Given the description of an element on the screen output the (x, y) to click on. 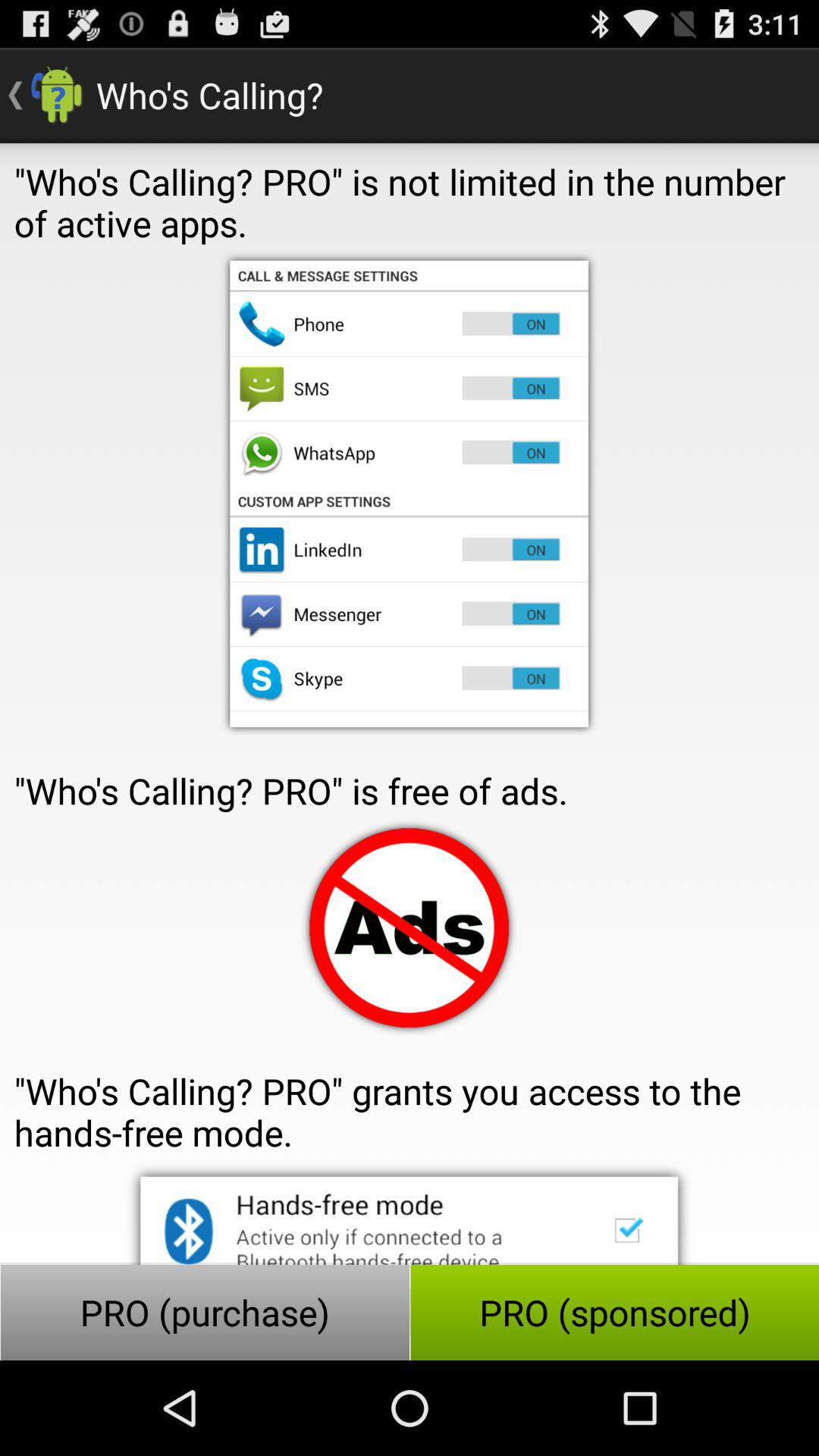
scroll to the pro (sponsored) (614, 1312)
